Given the description of an element on the screen output the (x, y) to click on. 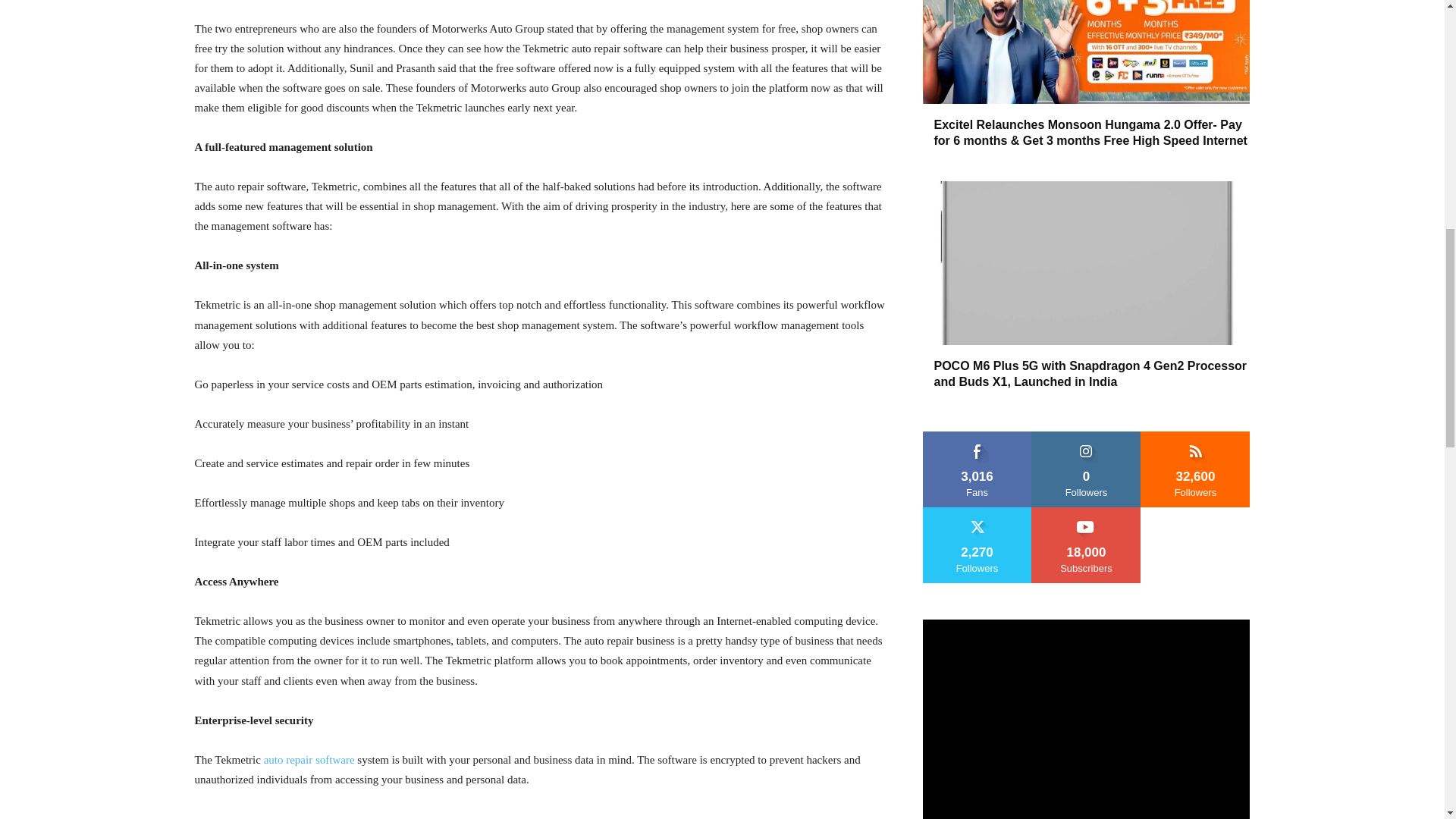
auto repair software (309, 759)
